Given the description of an element on the screen output the (x, y) to click on. 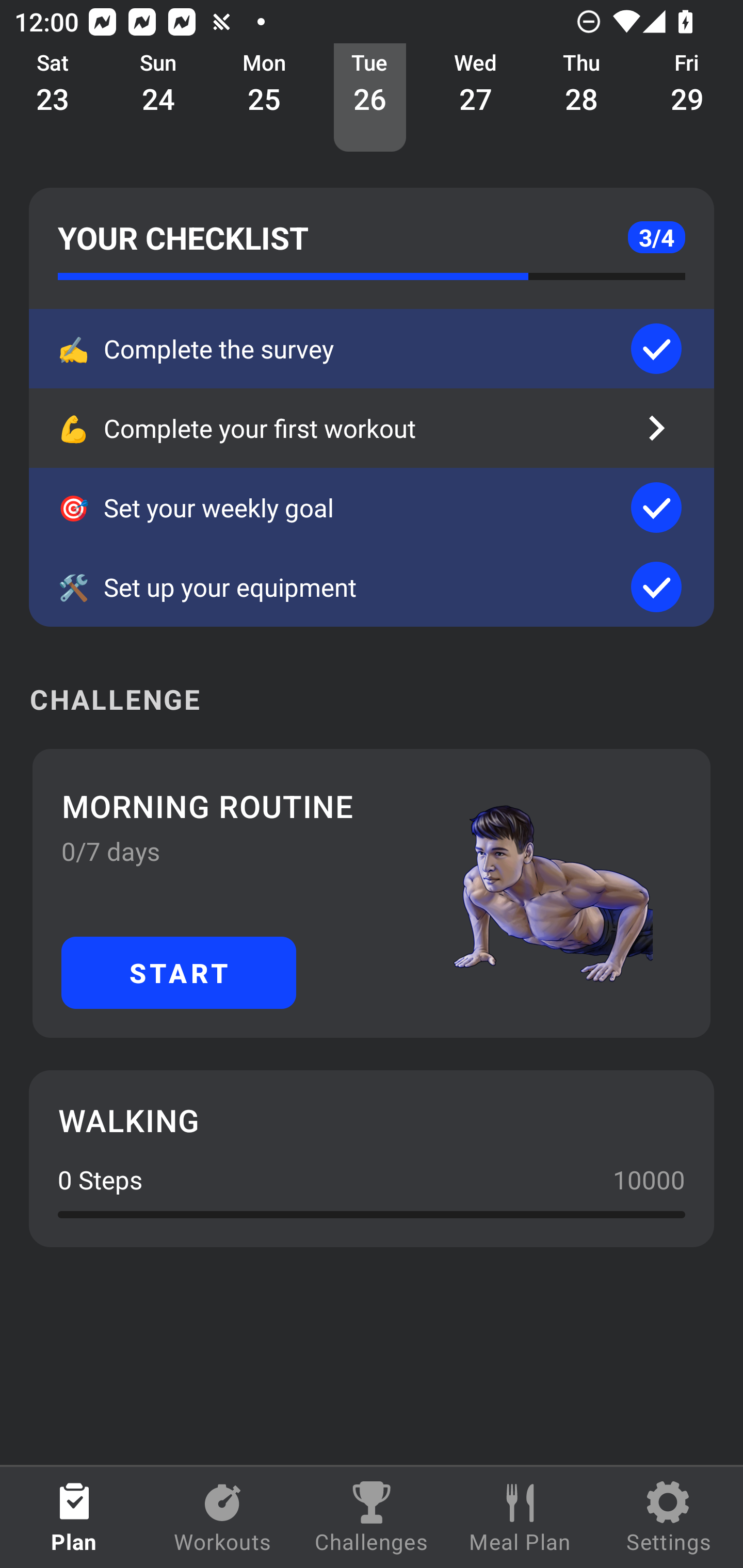
Sat 23 (52, 97)
Sun 24 (158, 97)
Mon 25 (264, 97)
Tue 26 (369, 97)
Wed 27 (475, 97)
Thu 28 (581, 97)
Fri 29 (687, 97)
💪 Complete your first workout (371, 427)
MORNING ROUTINE 0/7 days START (371, 892)
START (178, 972)
WALKING 0 Steps 10000 0.0 (371, 1158)
 Workouts  (222, 1517)
 Challenges  (371, 1517)
 Meal Plan  (519, 1517)
 Settings  (668, 1517)
